Given the description of an element on the screen output the (x, y) to click on. 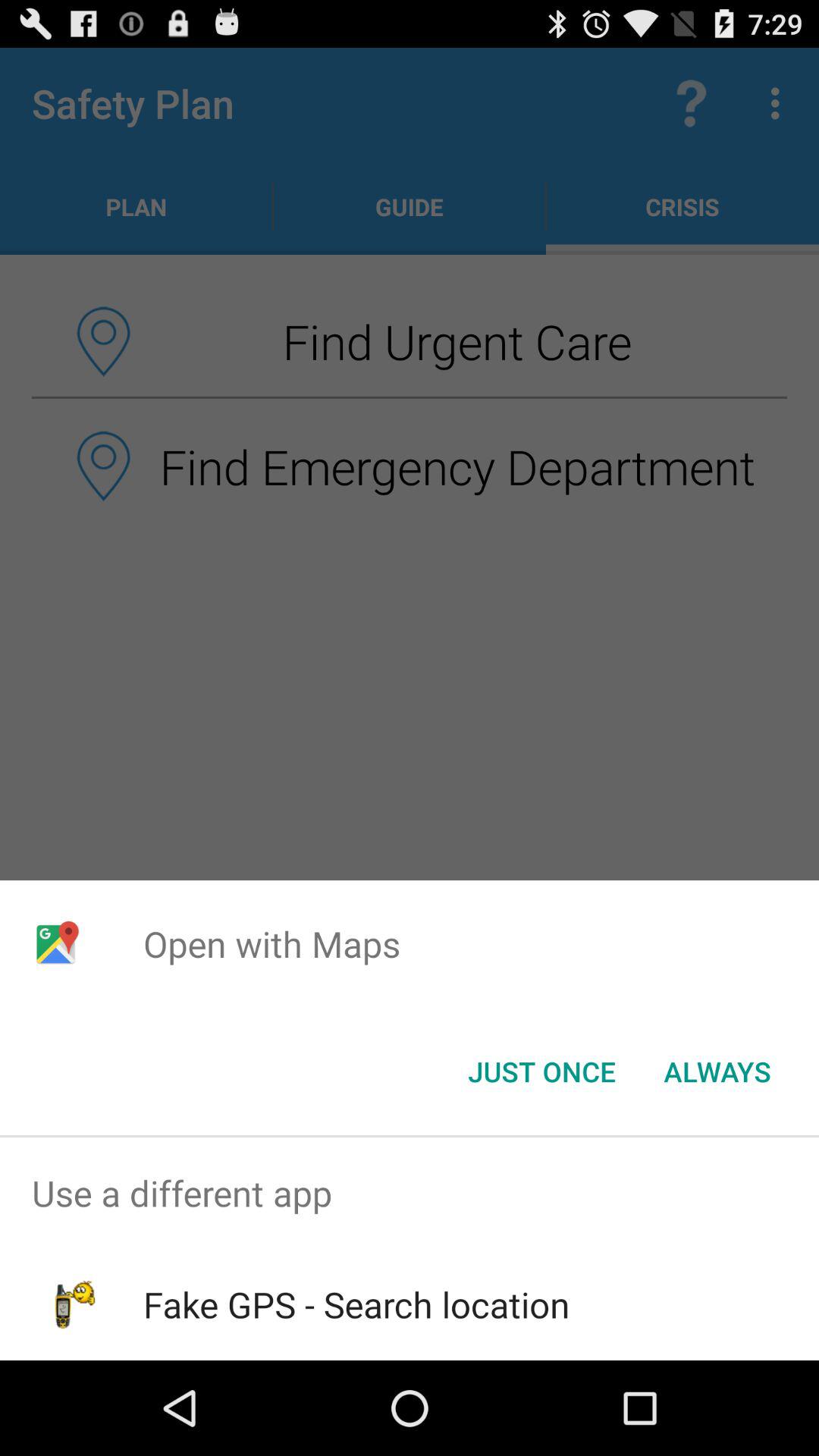
tap item next to the always button (541, 1071)
